Given the description of an element on the screen output the (x, y) to click on. 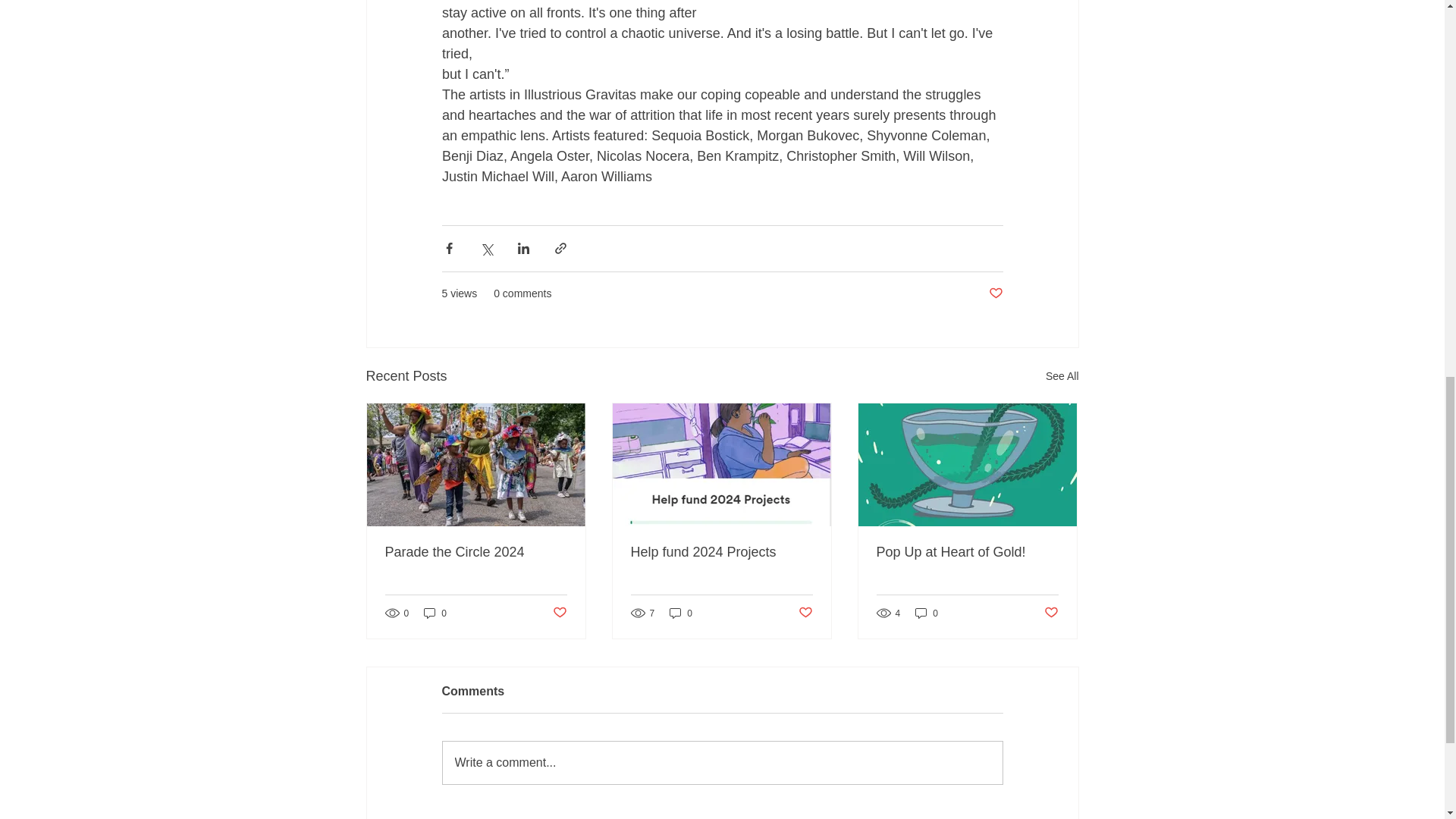
Post not marked as liked (995, 293)
0 (435, 612)
Post not marked as liked (558, 612)
See All (1061, 376)
Parade the Circle 2024 (476, 552)
